Given the description of an element on the screen output the (x, y) to click on. 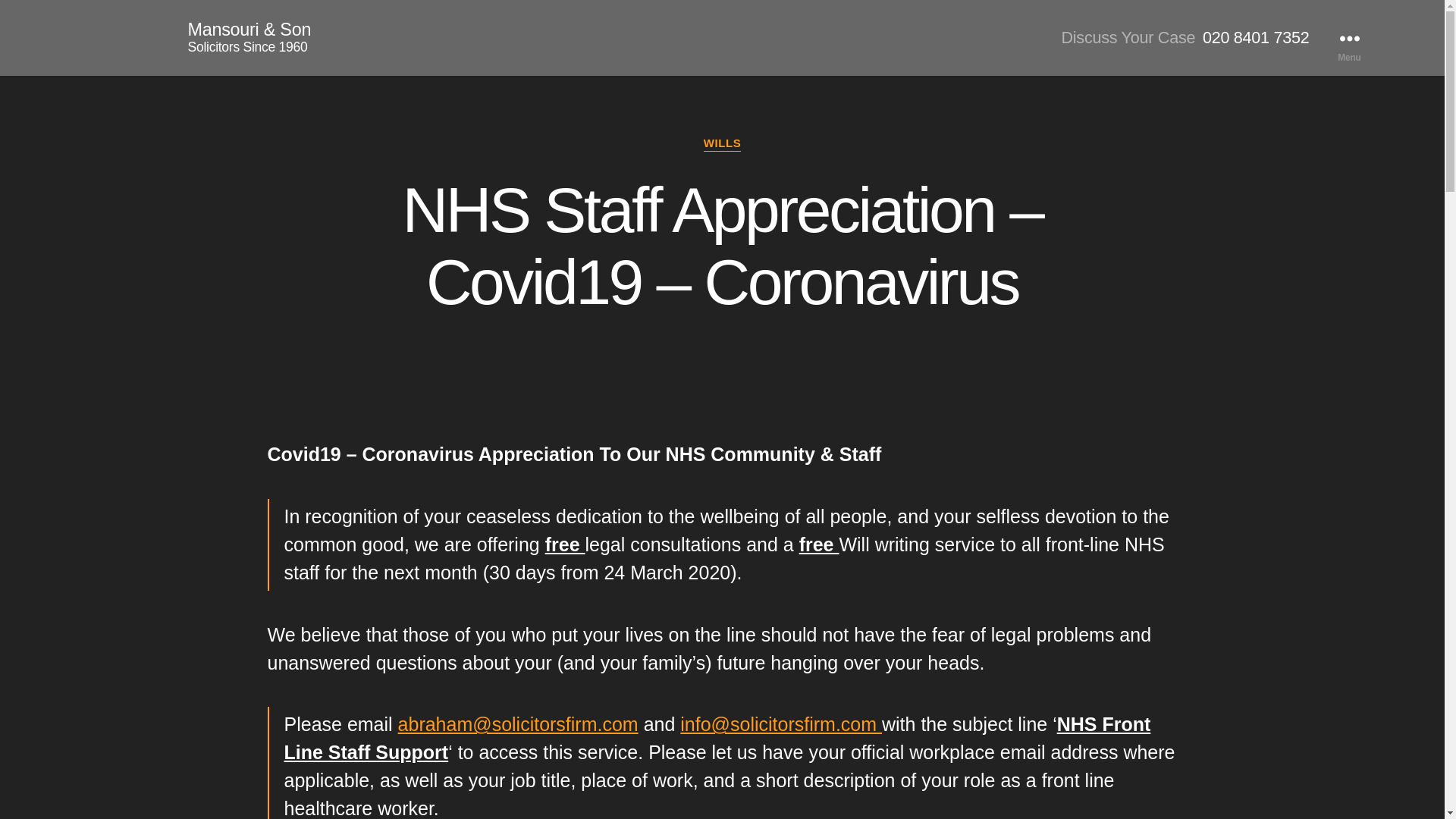
WILLS (722, 143)
Menu (1348, 37)
